Given the description of an element on the screen output the (x, y) to click on. 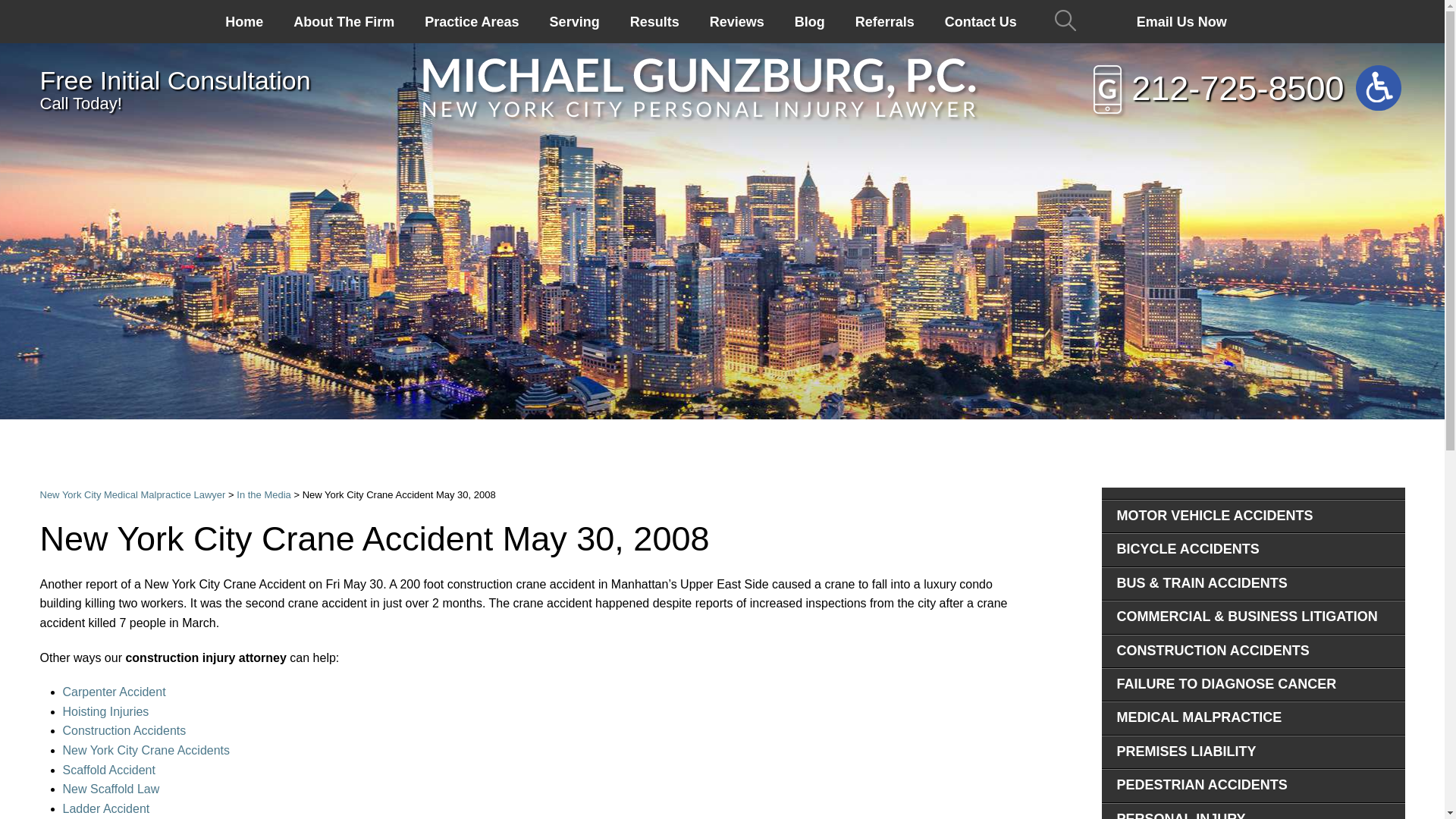
Home (243, 21)
Switch to ADA Accessible Theme (1377, 87)
About The Firm (343, 21)
Practice Areas (471, 21)
